Given the description of an element on the screen output the (x, y) to click on. 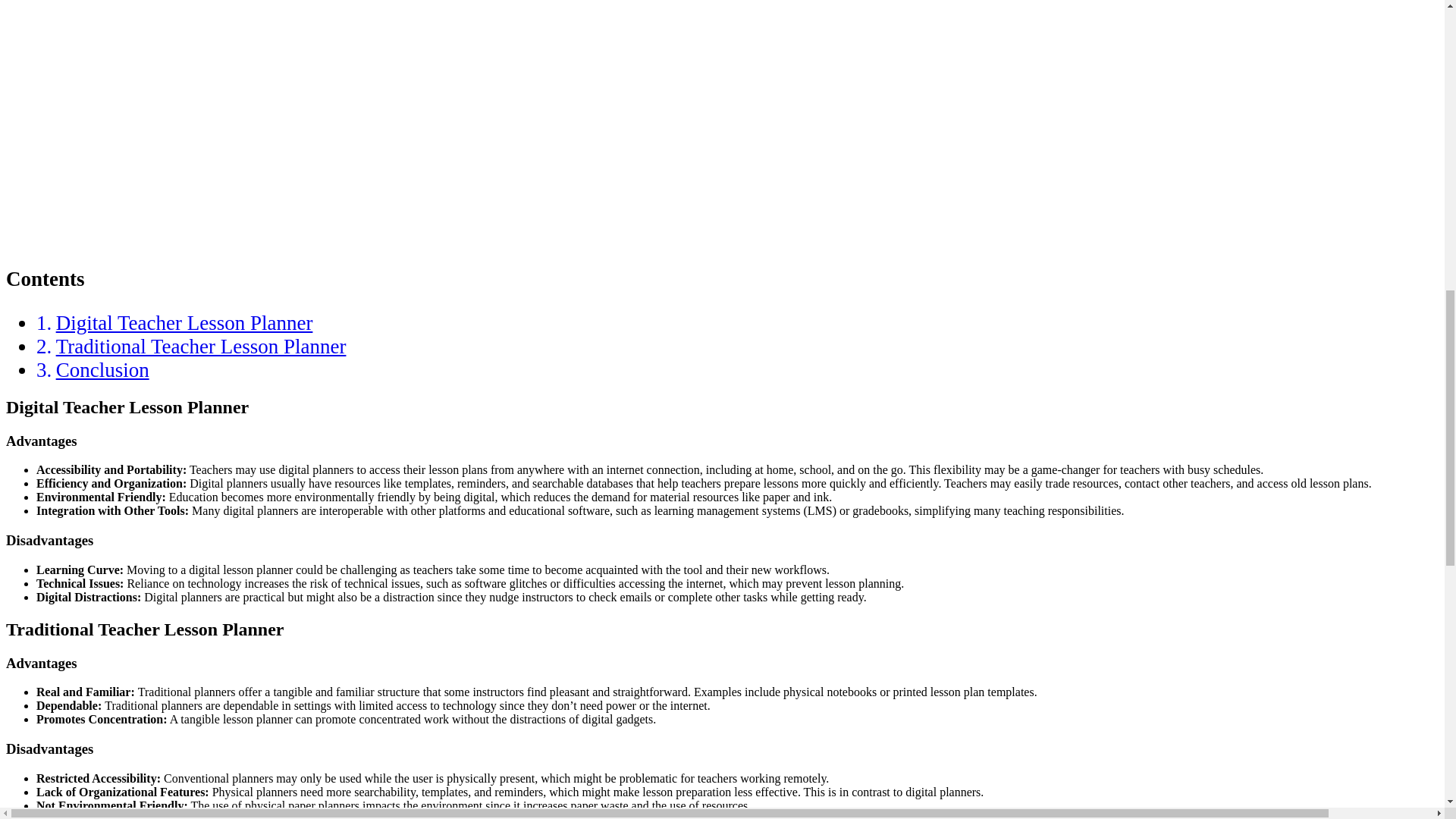
Conclusion (102, 369)
Traditional Teacher Lesson Planner (201, 345)
Digital Teacher Lesson Planner (184, 323)
Traditional Teacher Lesson Planner (201, 345)
Conclusion (102, 369)
Digital Teacher Lesson Planner (184, 323)
